Given the description of an element on the screen output the (x, y) to click on. 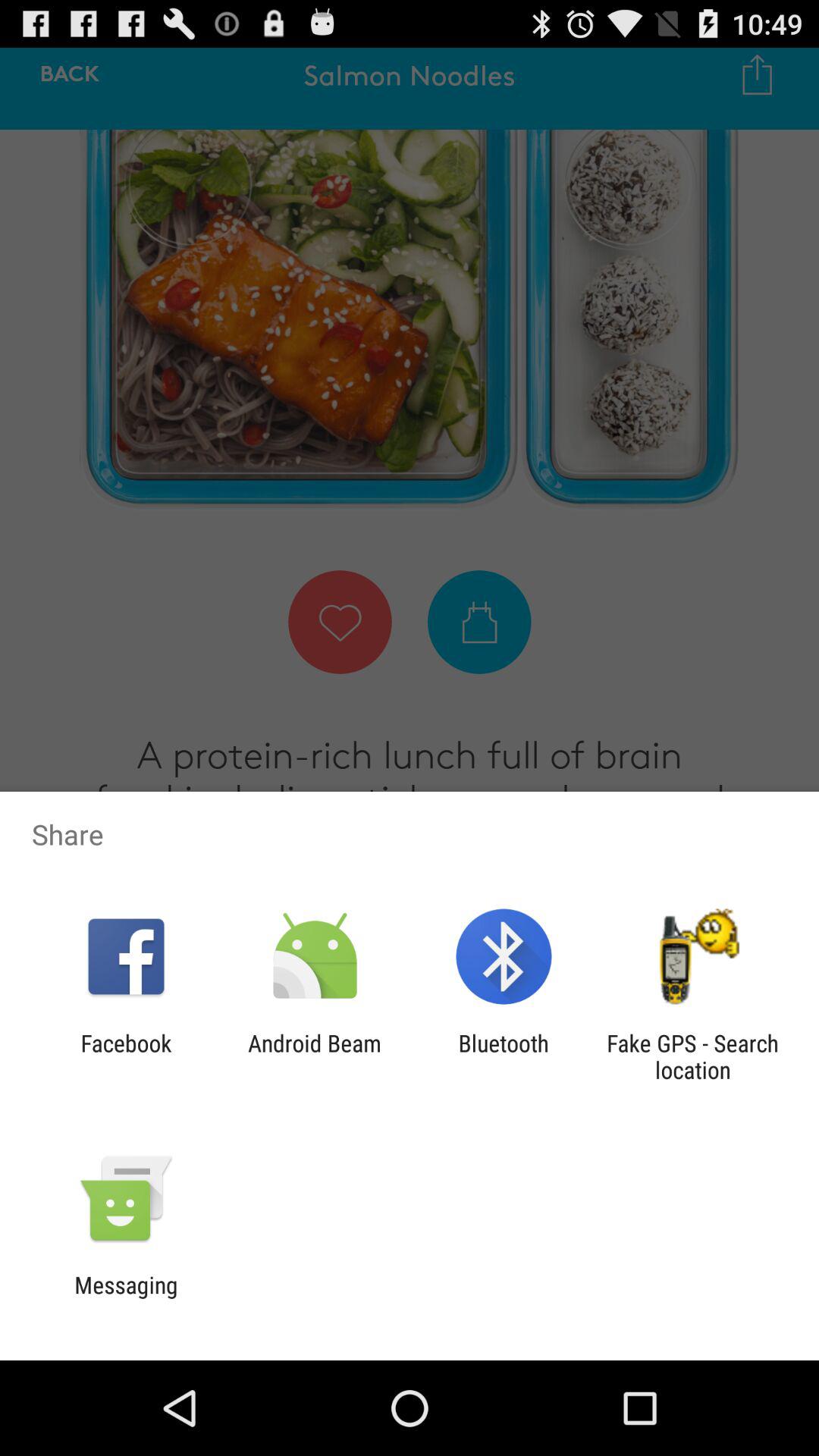
press icon next to the android beam (503, 1056)
